Given the description of an element on the screen output the (x, y) to click on. 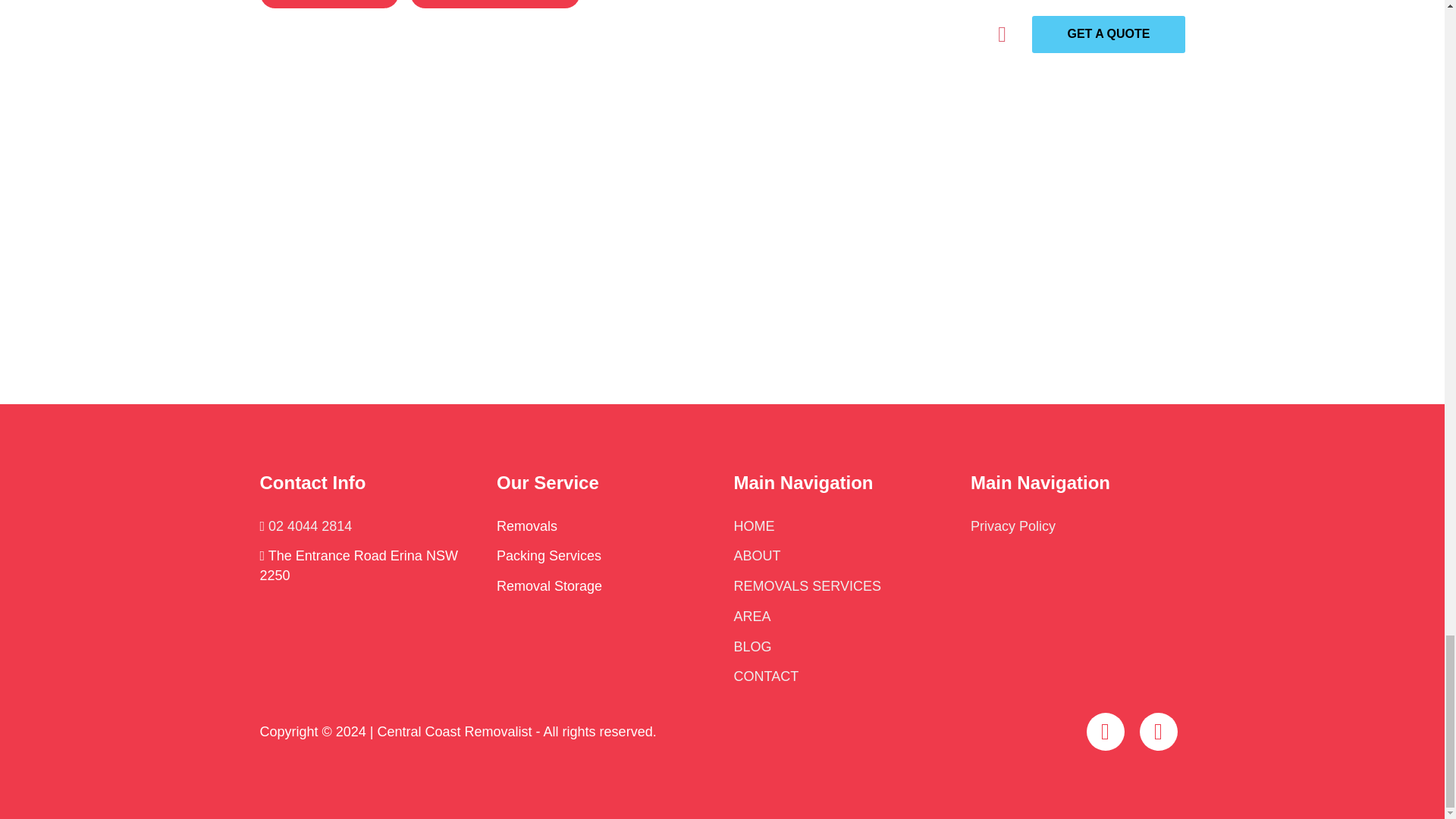
AREA (752, 616)
CONTACT US NOW (494, 4)
BLOG (752, 645)
ABOUT (756, 555)
CALL US NOW (328, 4)
REMOVALS SERVICES (806, 585)
02 4044 2814 (309, 525)
HOME (753, 525)
CONTACT (766, 676)
